Given the description of an element on the screen output the (x, y) to click on. 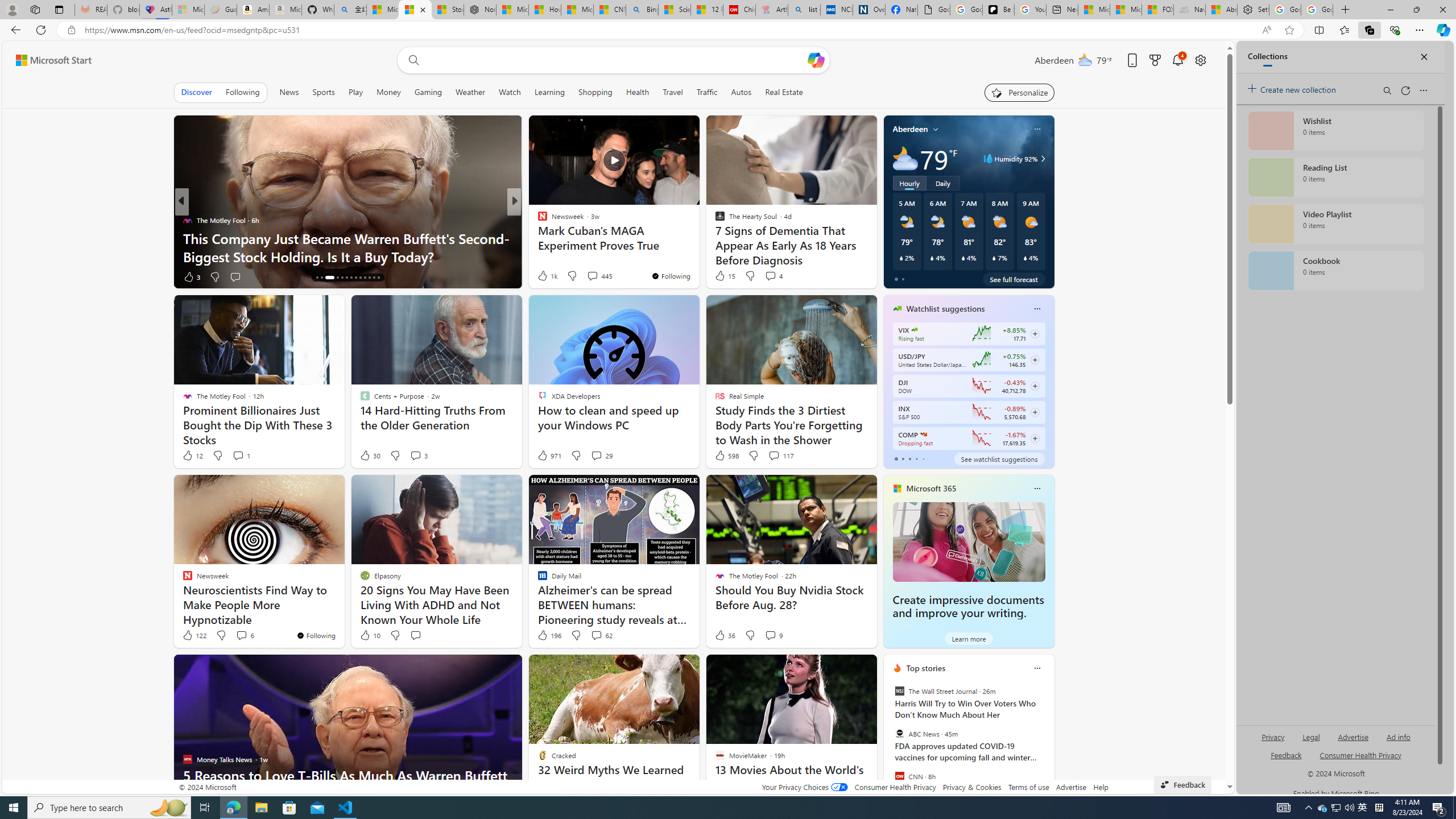
Consumer Health Privacy (895, 786)
Traffic (706, 92)
Humidity 92% (1040, 158)
See watchlist suggestions (999, 459)
View comments 2 Comment (589, 276)
CBOE Market Volatility Index (914, 329)
Privacy & Cookies (971, 786)
Gaming (428, 92)
15 Like (724, 275)
Traffic (706, 92)
View comments 445 Comment (592, 275)
